Given the description of an element on the screen output the (x, y) to click on. 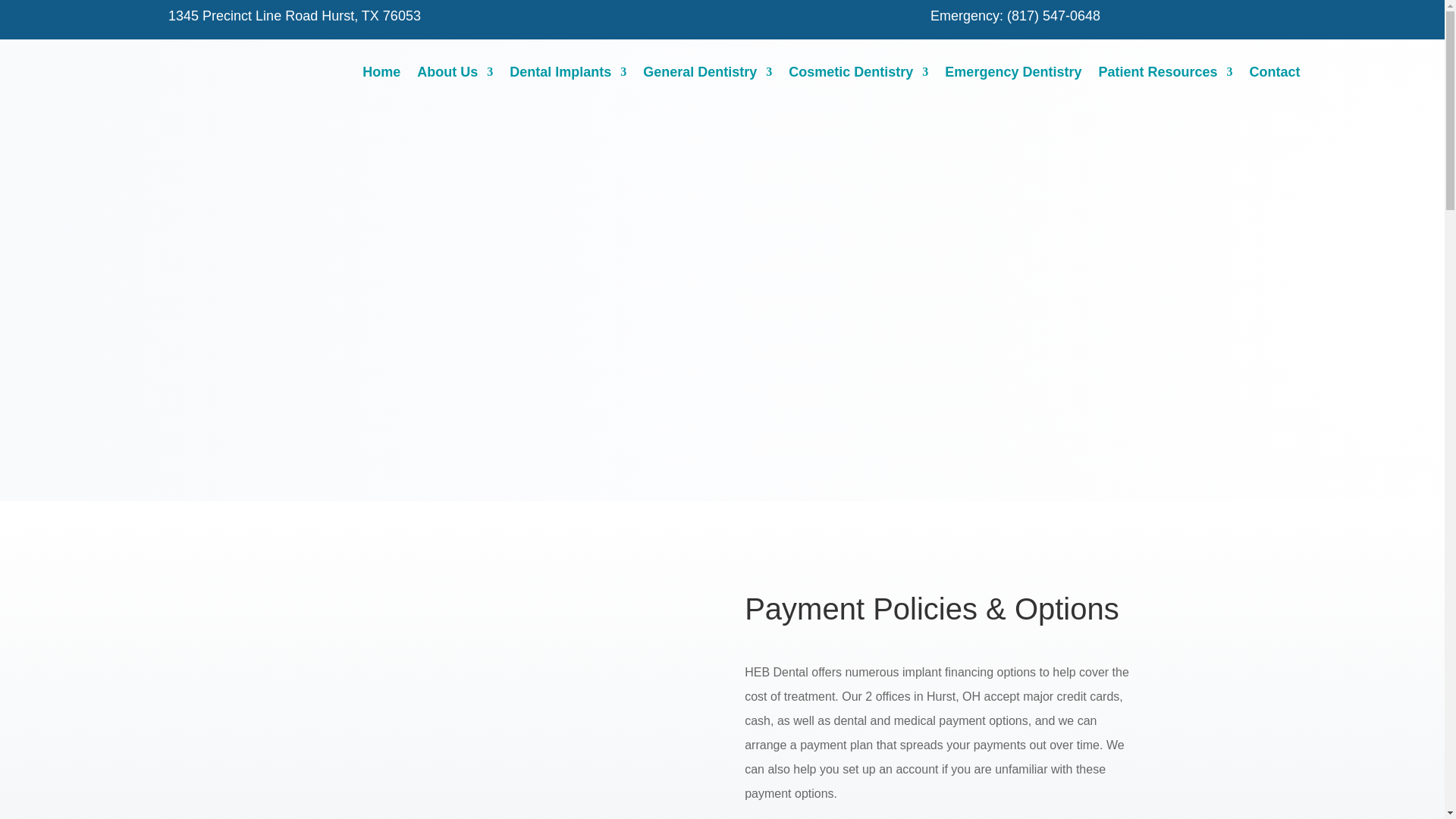
Dental Implants (567, 71)
General Dentistry (707, 71)
Emergency Dentistry (1012, 71)
1345 Precinct Line Road Hurst, TX 76053 (294, 15)
Payment (505, 703)
Patient Resources (1164, 71)
About Us (454, 71)
Cosmetic Dentistry (858, 71)
